Given the description of an element on the screen output the (x, y) to click on. 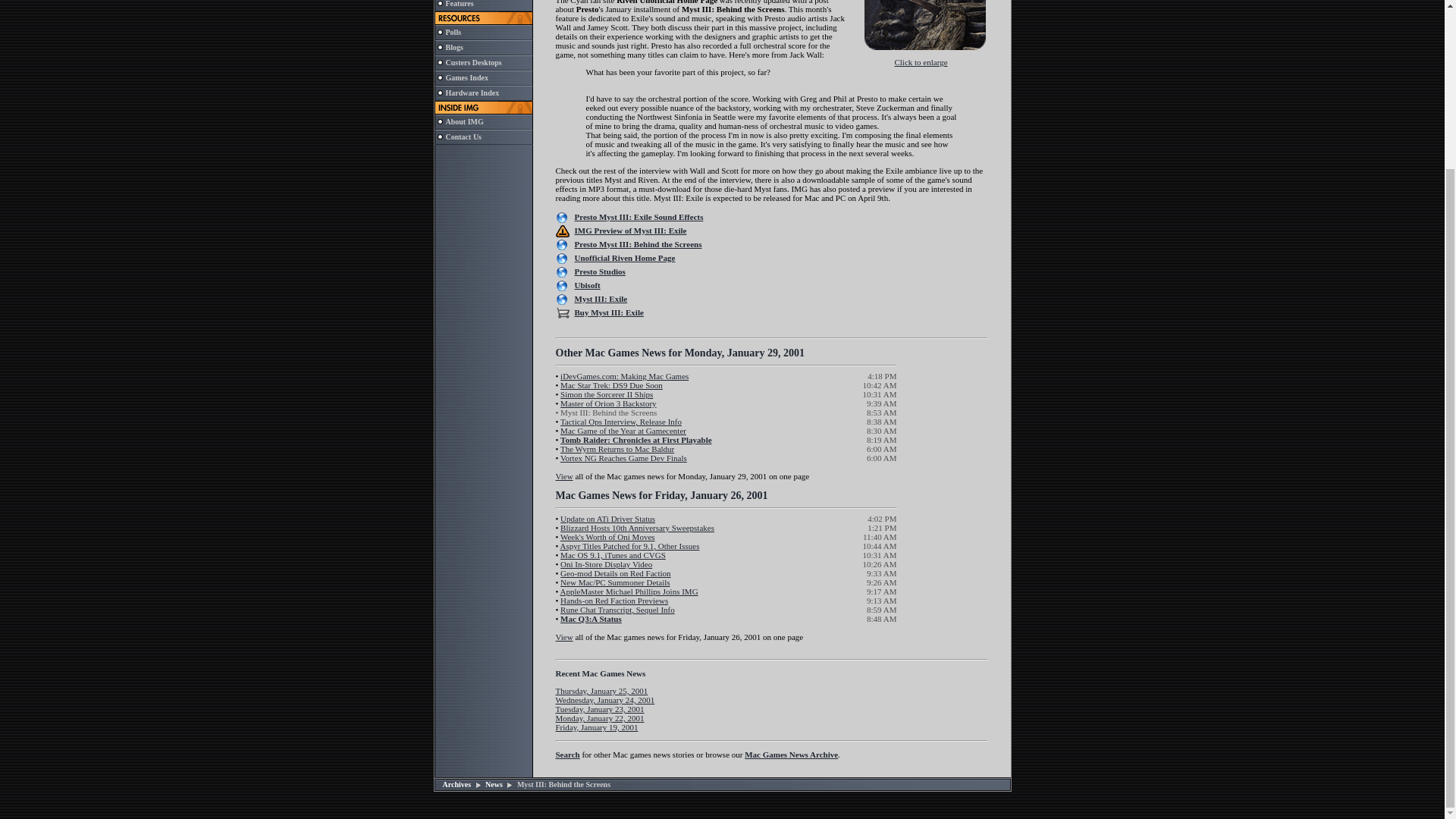
Tactical Ops Interview, Release Info (620, 420)
Features (459, 3)
Presto Myst III: Behind the Screens (638, 243)
Polls (453, 31)
Master of Orion 3 Backstory (608, 402)
Ubisoft (587, 284)
Myst III: Exile (601, 298)
Buy Myst III: Exile (609, 311)
Hardware Index (472, 92)
Presto Studios (600, 271)
